Given the description of an element on the screen output the (x, y) to click on. 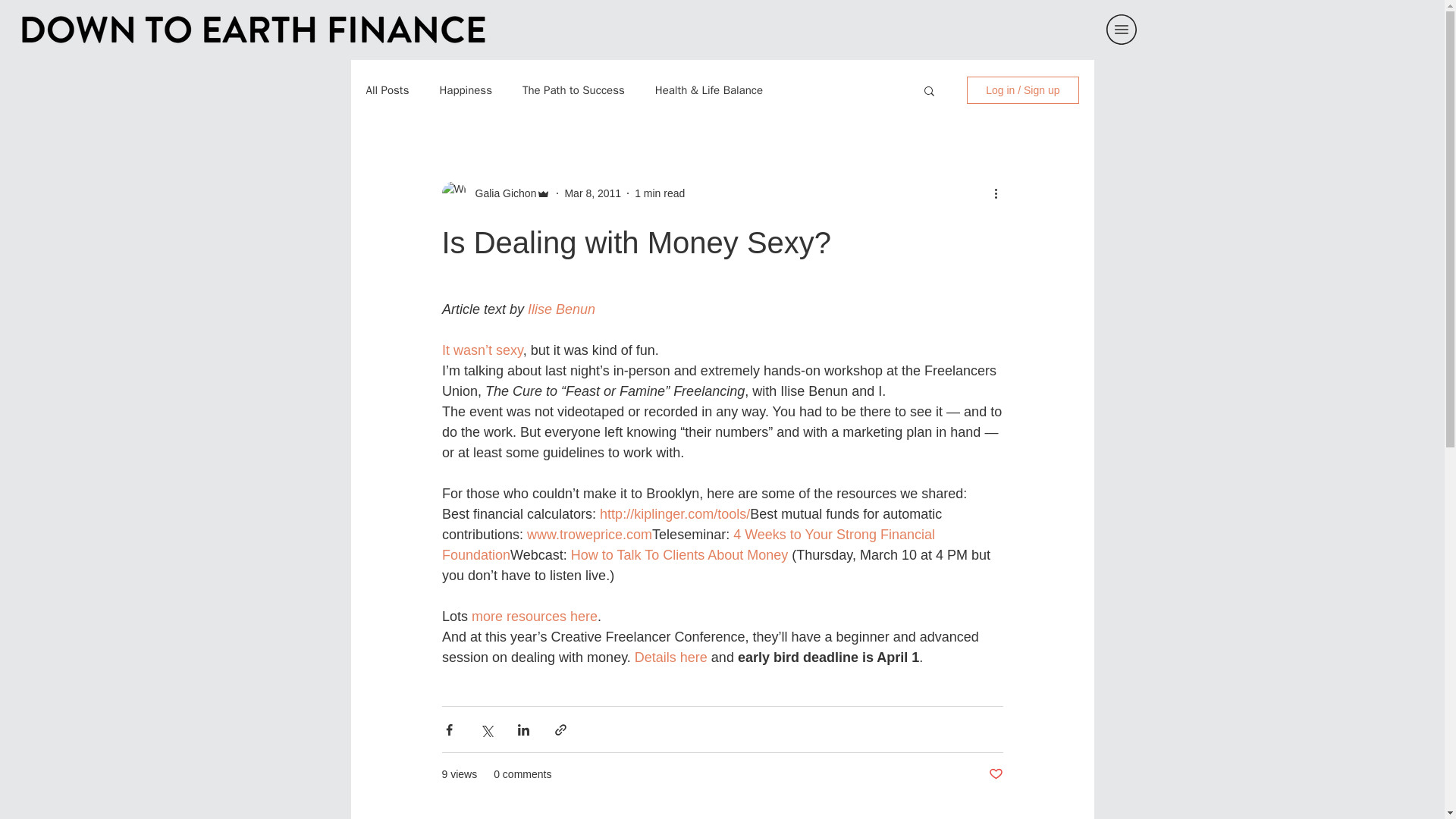
1 min read (659, 192)
The Path to Success (573, 90)
www.troweprice.com (589, 534)
4 Weeks to Your Strong Financial Foundation (689, 544)
more resources here (533, 616)
Galia Gichon (500, 192)
 Ilise Benun (559, 309)
Mar 8, 2011 (592, 192)
Post not marked as liked (995, 774)
How to Talk To Clients About Money (678, 554)
Happiness (465, 90)
Details here (669, 657)
All Posts (387, 90)
